Given the description of an element on the screen output the (x, y) to click on. 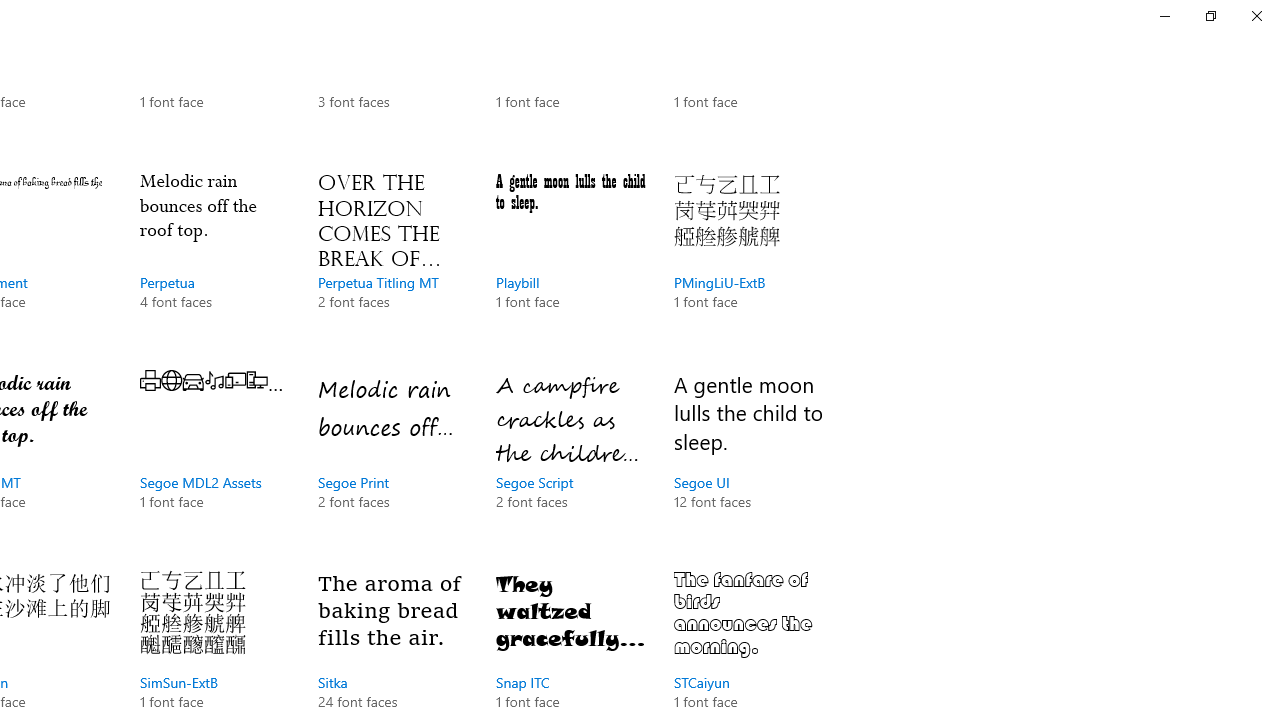
Vertical Small Decrease (1272, 103)
Nirmala UI, 3 font faces (392, 80)
OCR A, 1 font face (748, 80)
Close Settings (1256, 15)
Segoe Print, 2 font faces (392, 460)
PMingLiU-ExtB, 1 font face (748, 260)
Playbill, 1 font face (570, 260)
NSimSun, 1 font face (570, 80)
Minimize Settings (1164, 15)
Segoe MDL2 Assets, 1 font face (214, 460)
Segoe Script, 2 font faces (570, 460)
Restore Settings (1210, 15)
Niagara Solid, 1 font face (214, 80)
Perpetua Titling MT, 2 font faces (392, 260)
Perpetua, 4 font faces (214, 260)
